Given the description of an element on the screen output the (x, y) to click on. 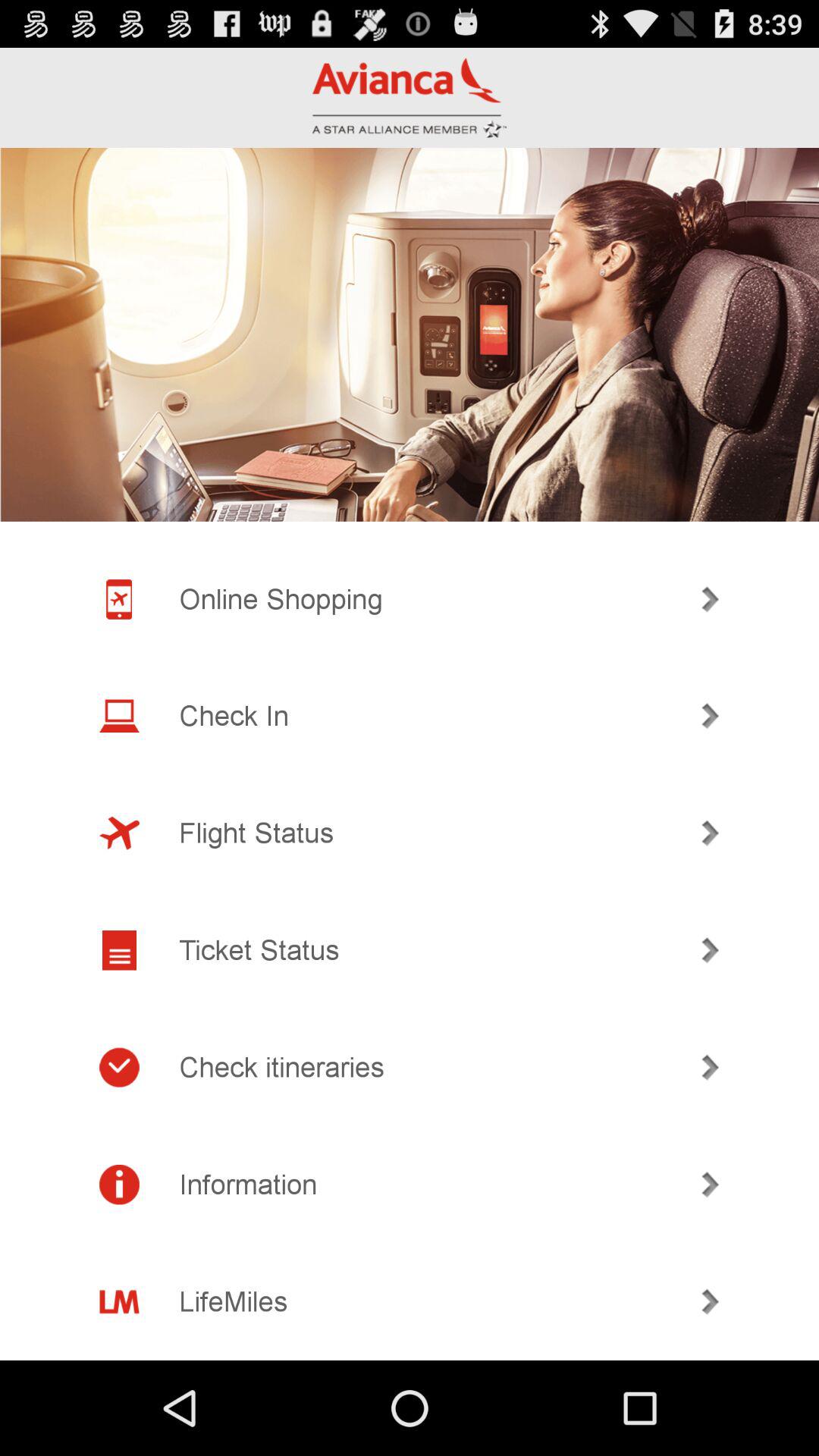
click  on next page icon right to check in (710, 716)
click the right arrow icon right to information (710, 1185)
click on icon on the right side of ticket status (710, 950)
click on icon on the right side of flight status (710, 833)
click on icon on the right side of online shopping (710, 599)
